Given the description of an element on the screen output the (x, y) to click on. 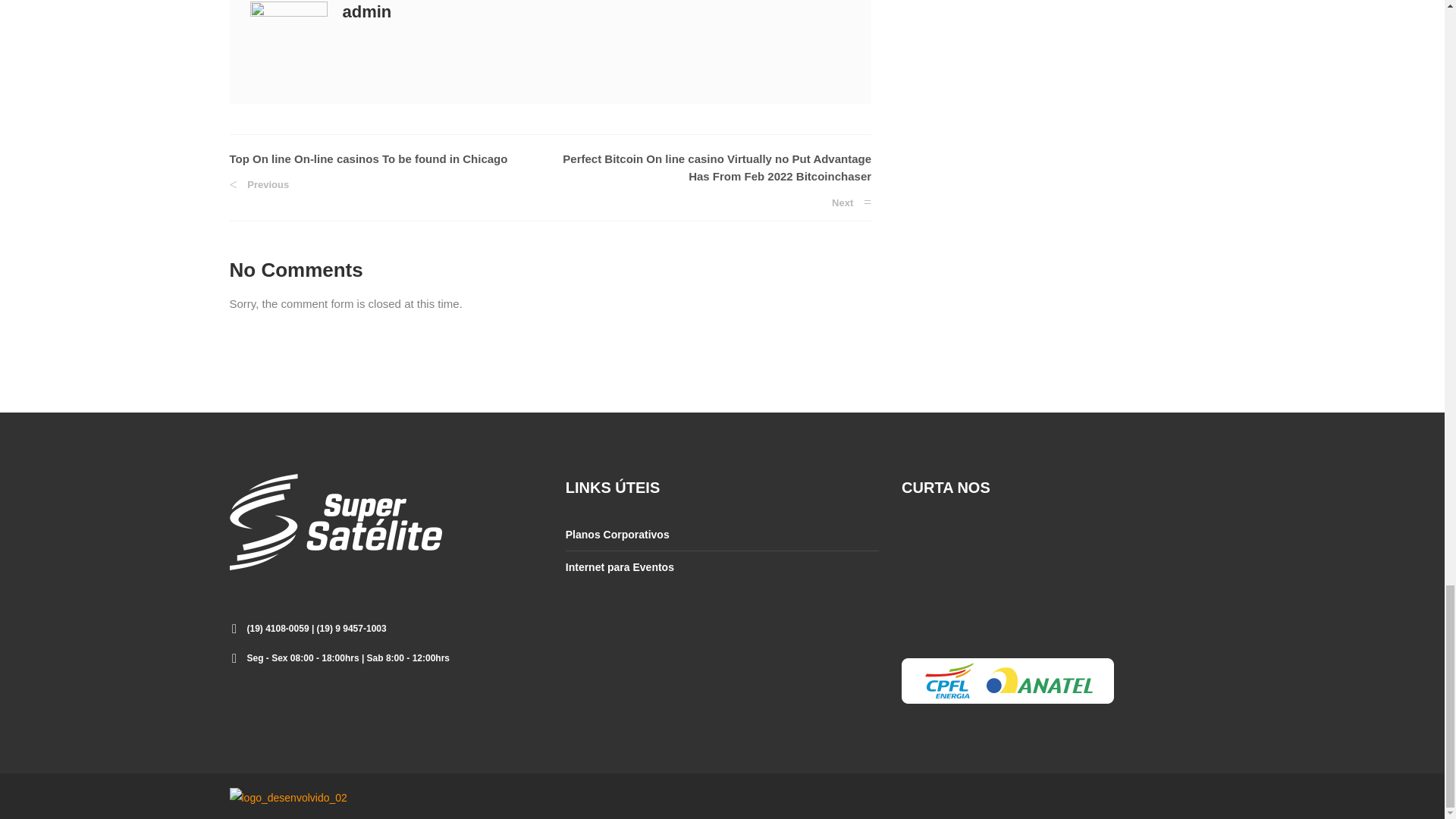
Next (850, 202)
Internet para Eventos (620, 567)
admin (366, 11)
Previous (258, 184)
Planos Corporativos (617, 534)
